Given the description of an element on the screen output the (x, y) to click on. 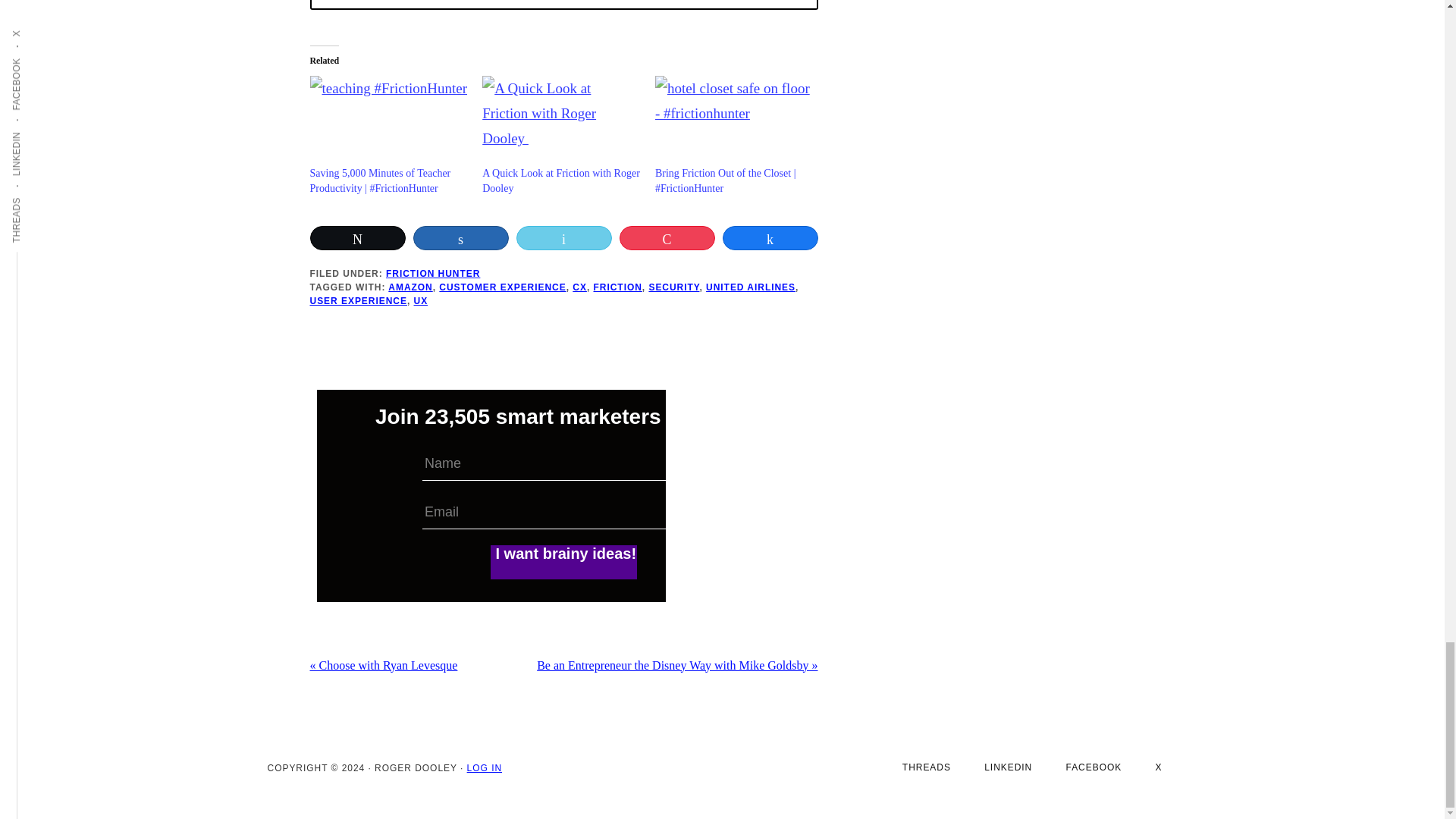
A Quick Look at Friction with Roger Dooley (560, 180)
A Quick Look at Friction with Roger Dooley (560, 121)
